Given the description of an element on the screen output the (x, y) to click on. 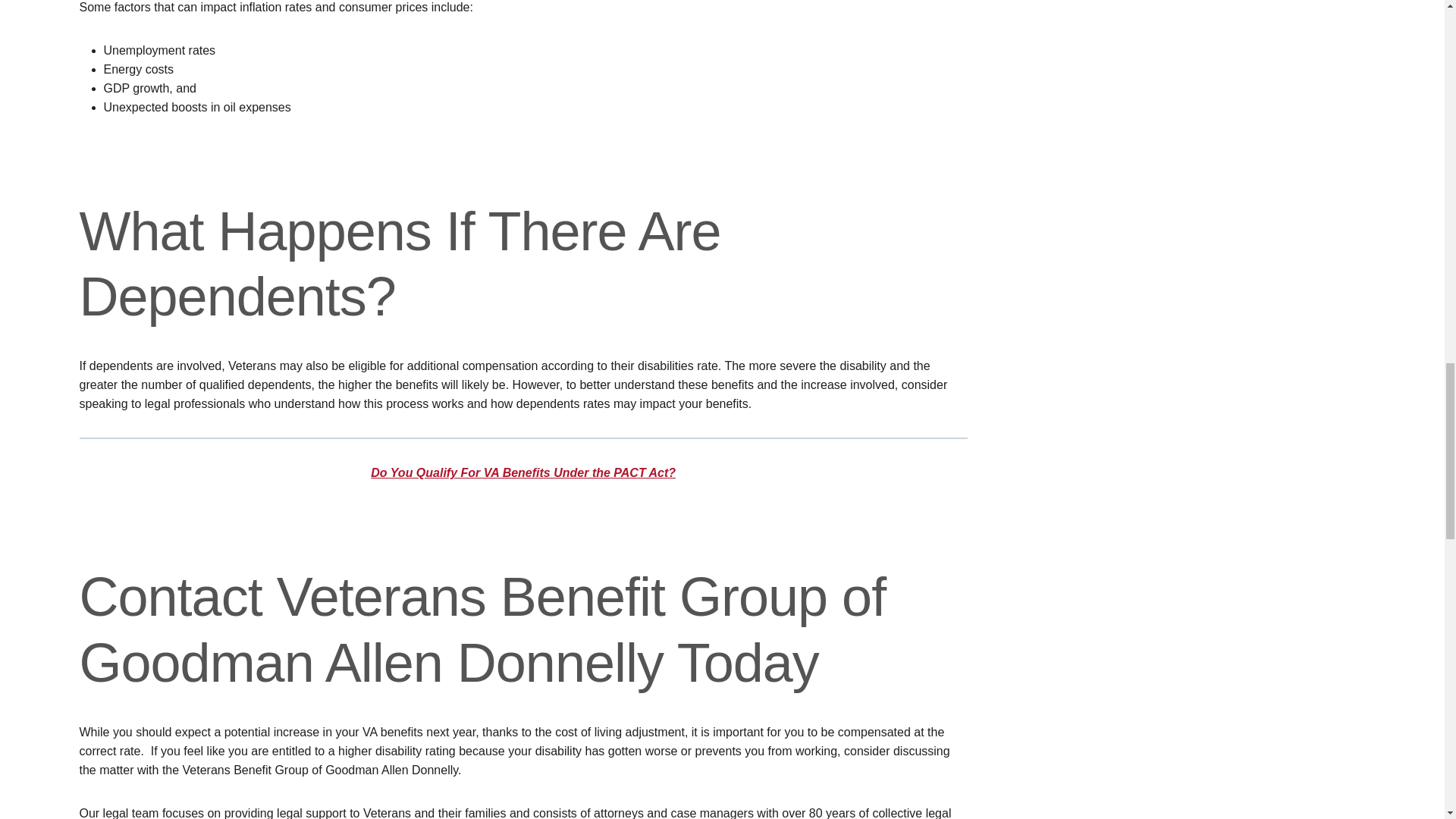
Do You Qualify For VA Benefits Under the PACT Act? (523, 472)
